Given the description of an element on the screen output the (x, y) to click on. 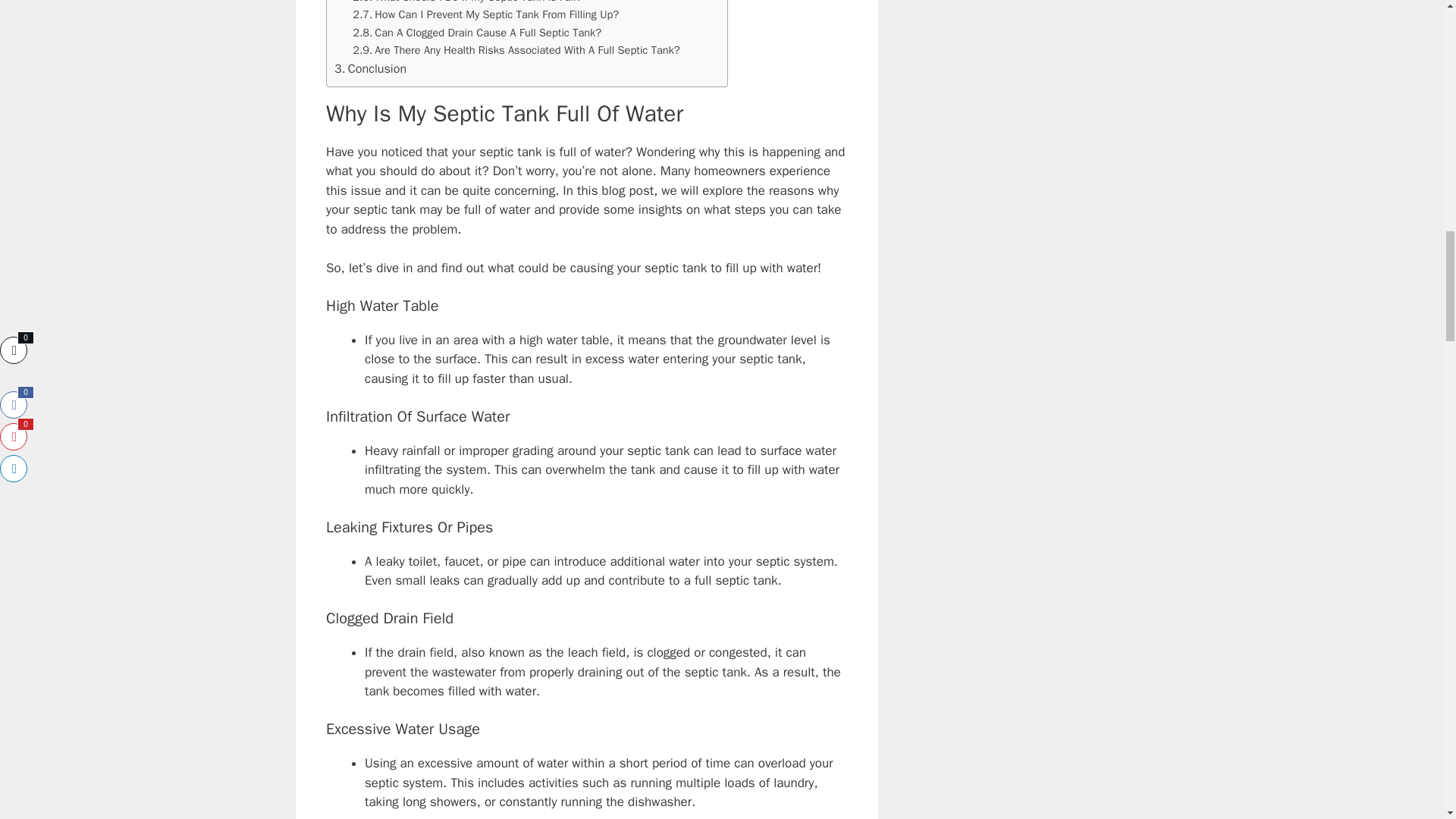
Can A Clogged Drain Cause A Full Septic Tank? (476, 32)
Conclusion (370, 68)
How Can I Prevent My Septic Tank From Filling Up? (485, 14)
What Should I Do If My Septic Tank Is Full? (466, 2)
